Given the description of an element on the screen output the (x, y) to click on. 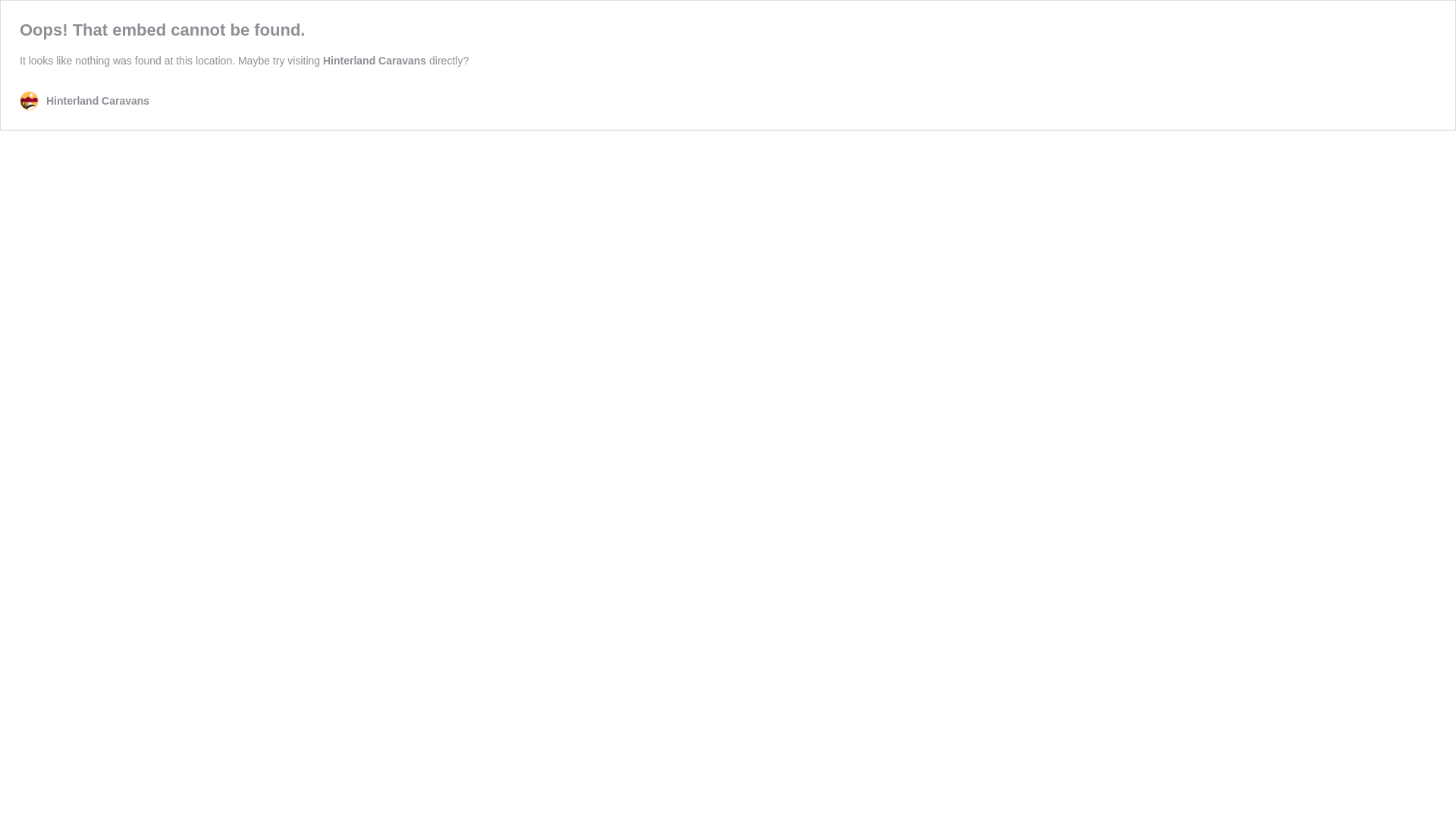
Hinterland Caravans Element type: text (84, 100)
Hinterland Caravans Element type: text (374, 60)
